Given the description of an element on the screen output the (x, y) to click on. 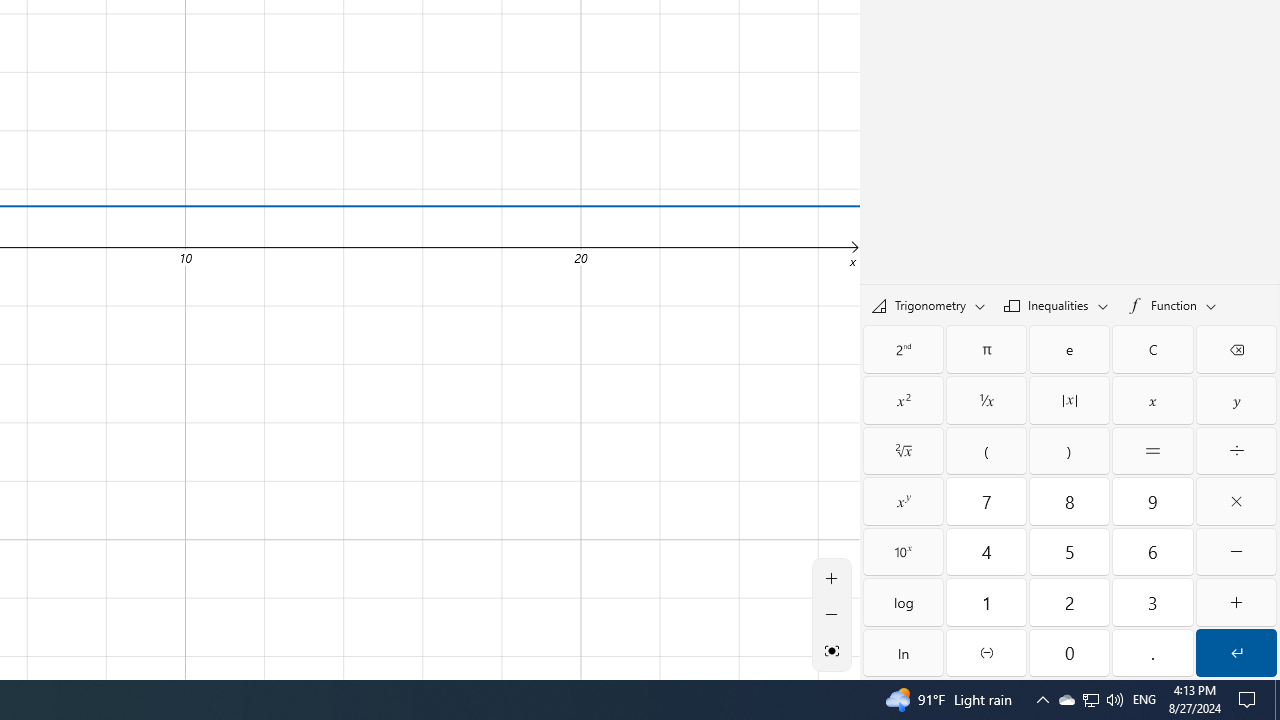
Positive negative (985, 652)
Trigonometry (927, 304)
Reciprocal (985, 399)
Zoom in (831, 578)
Euler's number (1069, 348)
One (985, 602)
Submit (1236, 652)
Plus (1236, 602)
'X' to the exponent (903, 501)
Functions (1171, 304)
Three (1153, 602)
